Given the description of an element on the screen output the (x, y) to click on. 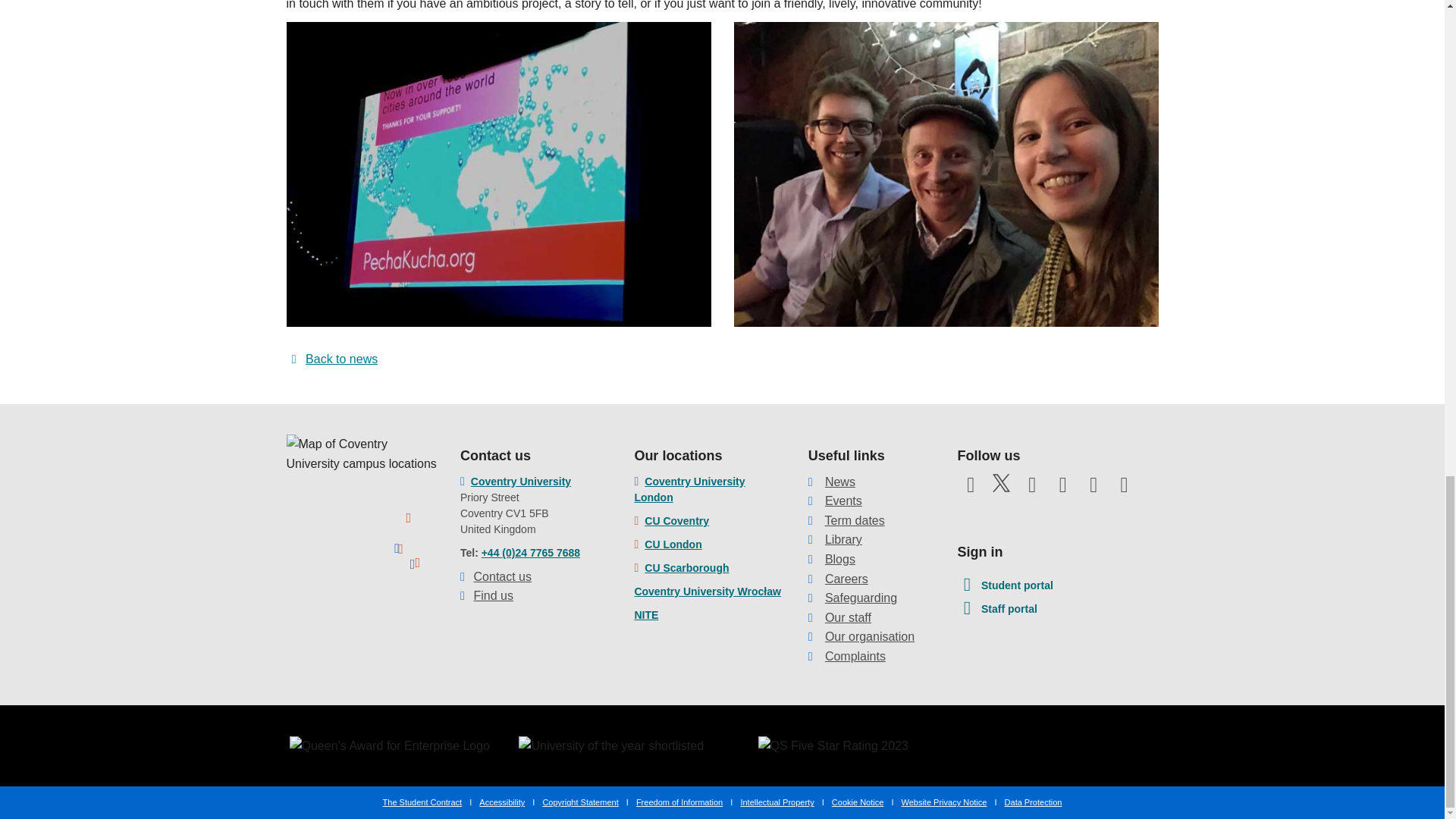
Like us on Facebook (970, 489)
Follow us on Instagram (1063, 489)
Follow us on TikTok (970, 513)
Careers (846, 578)
University of the year shortlisted (610, 745)
Complaints (855, 656)
Library (843, 539)
Term dates (855, 520)
Our staff (847, 617)
Connect with us on Linkedin (1093, 489)
Blogs (840, 558)
Events (843, 500)
QS Five Star Rating 2023 (833, 745)
News (840, 481)
Add us on Snapchat (1124, 489)
